Given the description of an element on the screen output the (x, y) to click on. 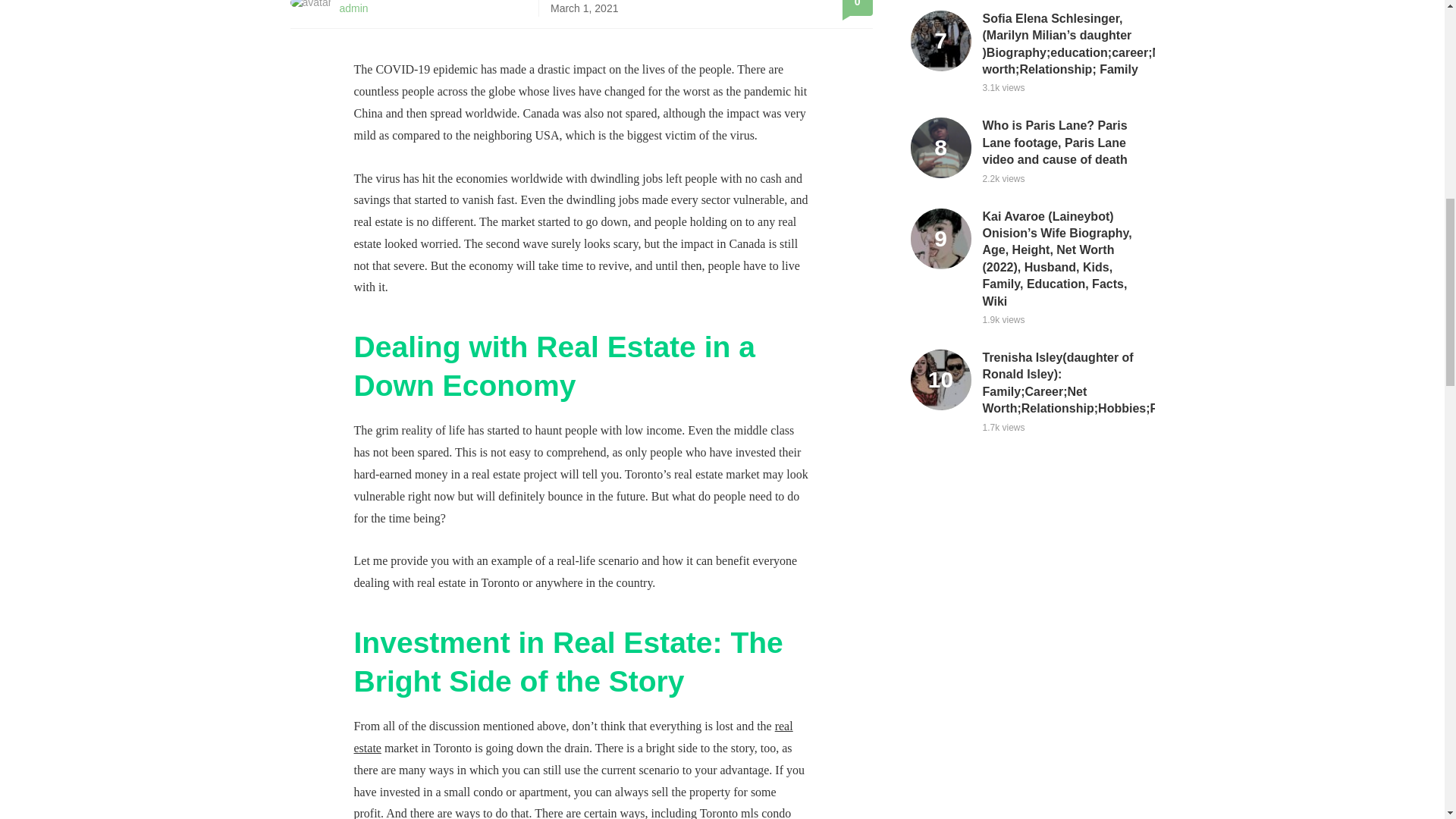
Posts by admin (353, 8)
